Given the description of an element on the screen output the (x, y) to click on. 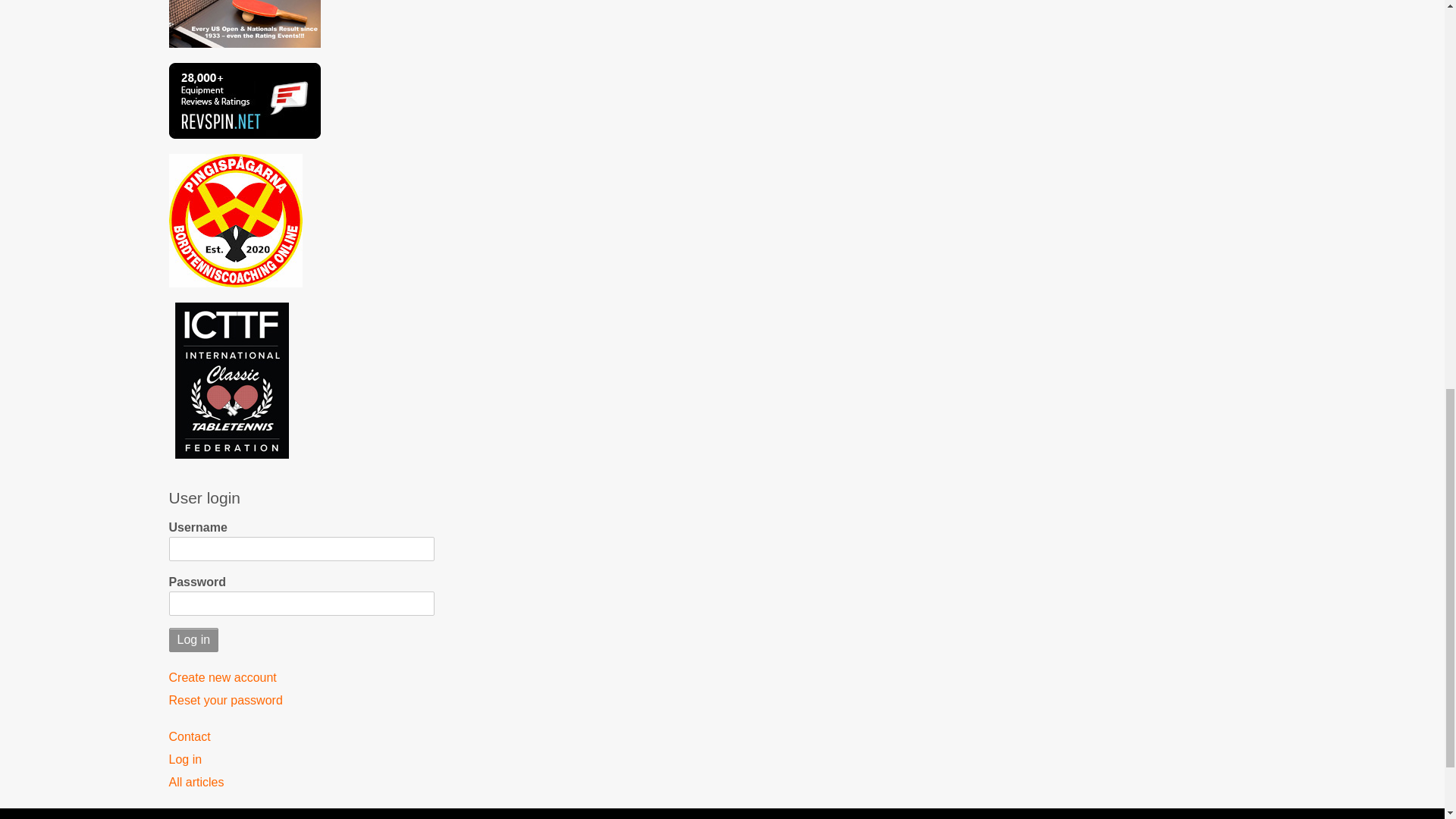
Create a new user account. (300, 677)
Create new account (300, 677)
Reset your password (300, 700)
Send password reset instructions via email. (300, 700)
Log in (193, 639)
Log in (300, 759)
All articles (300, 782)
Contact (300, 736)
Log in (193, 639)
